Given the description of an element on the screen output the (x, y) to click on. 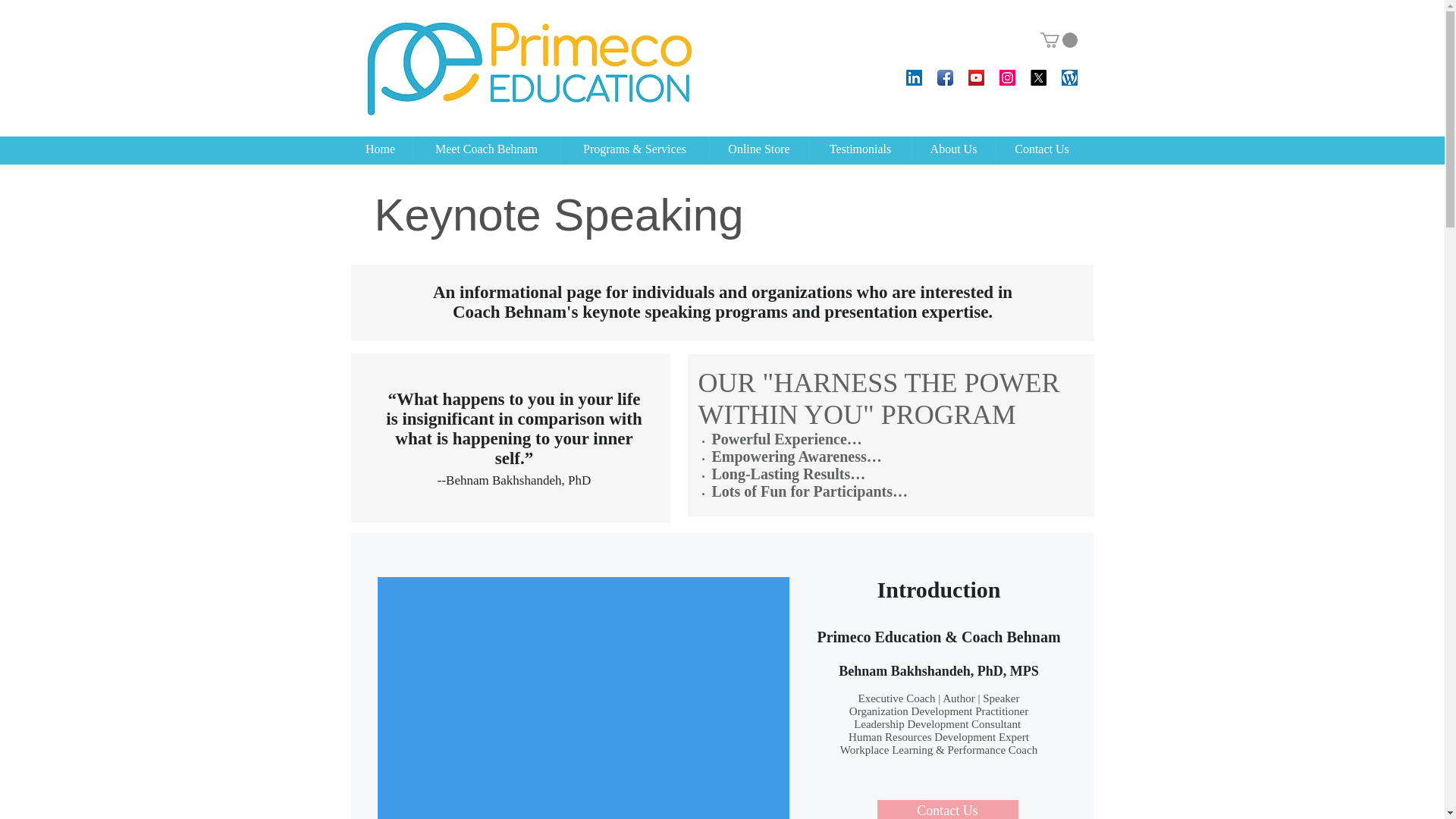
Home (380, 148)
Testimonials (860, 148)
Online Store (759, 148)
Meet Coach Behnam (485, 148)
Primeco Education-Logo-D4.jpg (528, 68)
About Us (952, 148)
Contact Us (946, 809)
Contact Us (1041, 148)
External YouTube (583, 699)
